Given the description of an element on the screen output the (x, y) to click on. 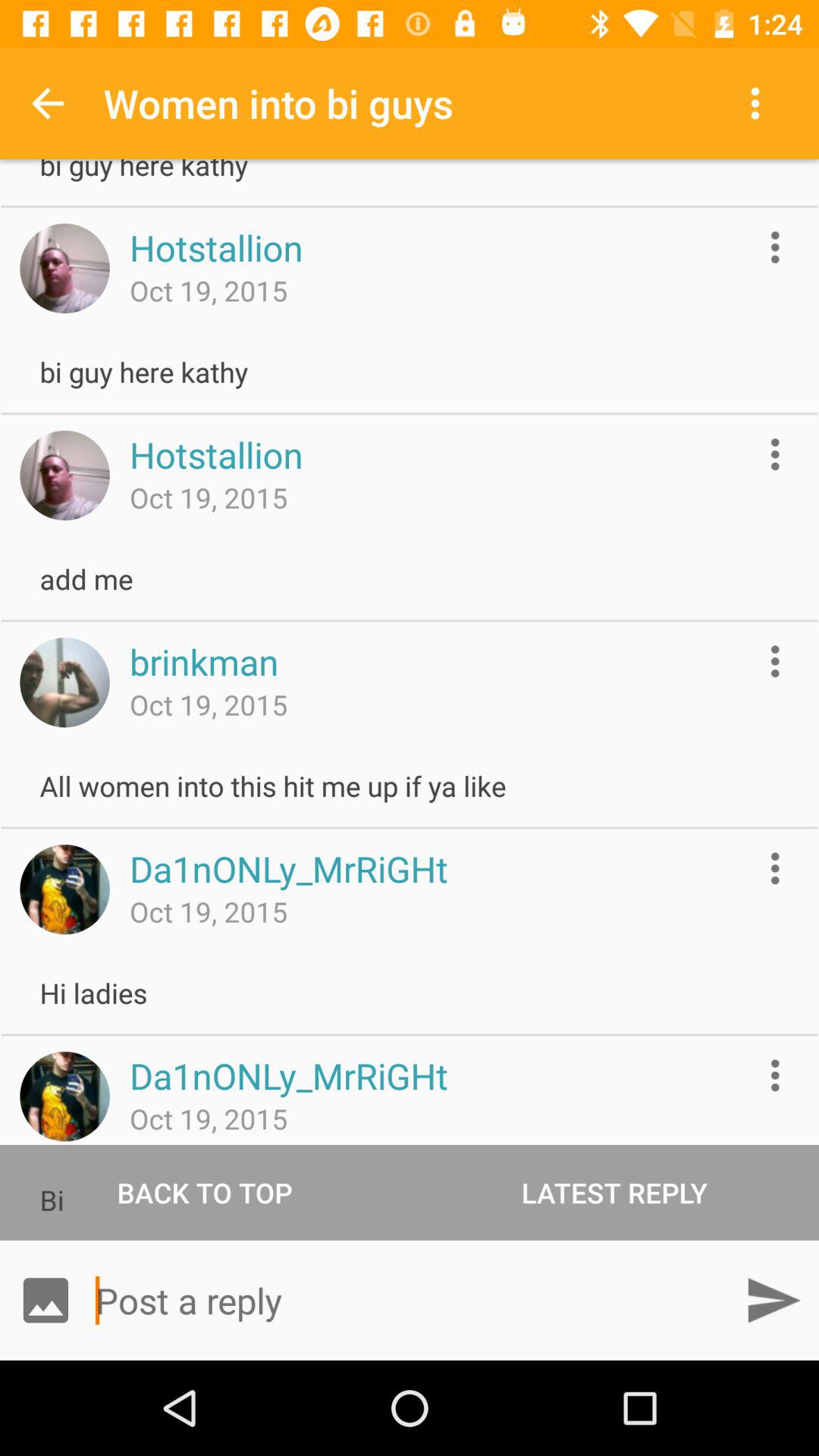
access thumbnail (64, 475)
